Given the description of an element on the screen output the (x, y) to click on. 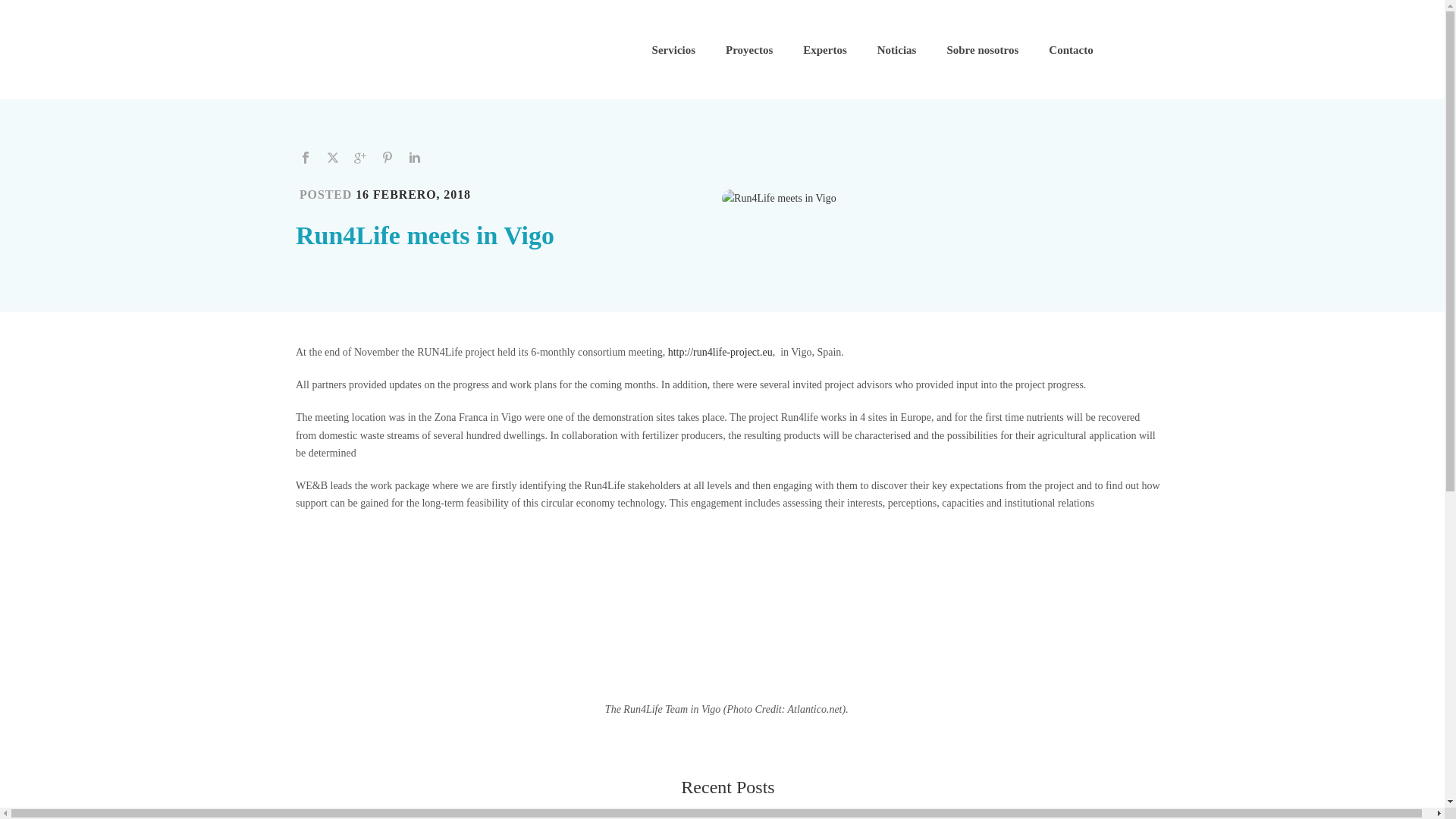
Expertos (824, 49)
Local Impact, Global Change (412, 49)
Servicios (674, 49)
Noticias (896, 49)
Proyectos (748, 49)
Contacto (1070, 49)
Expertos (824, 49)
Proyectos (748, 49)
Sobre nosotros (982, 49)
Contacto (1070, 49)
